Given the description of an element on the screen output the (x, y) to click on. 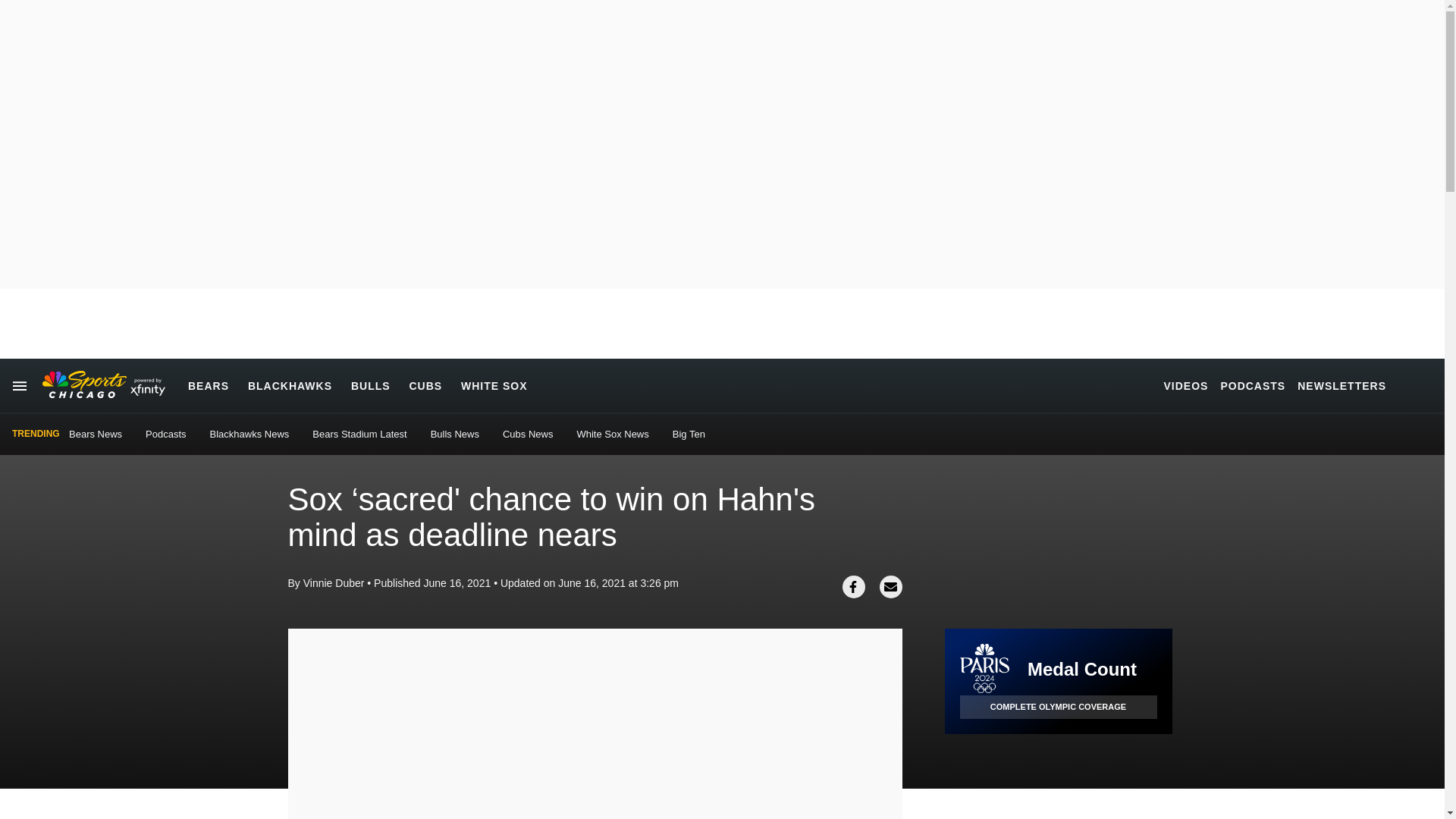
WHITE SOX (494, 385)
3rd party ad content (1058, 776)
NEWSLETTERS (1341, 385)
Vinnie Duber (333, 582)
Bears Stadium Latest (359, 433)
Big Ten (688, 433)
Blackhawks News (249, 433)
Cubs News (527, 433)
BLACKHAWKS (289, 385)
White Sox News (611, 433)
